Given the description of an element on the screen output the (x, y) to click on. 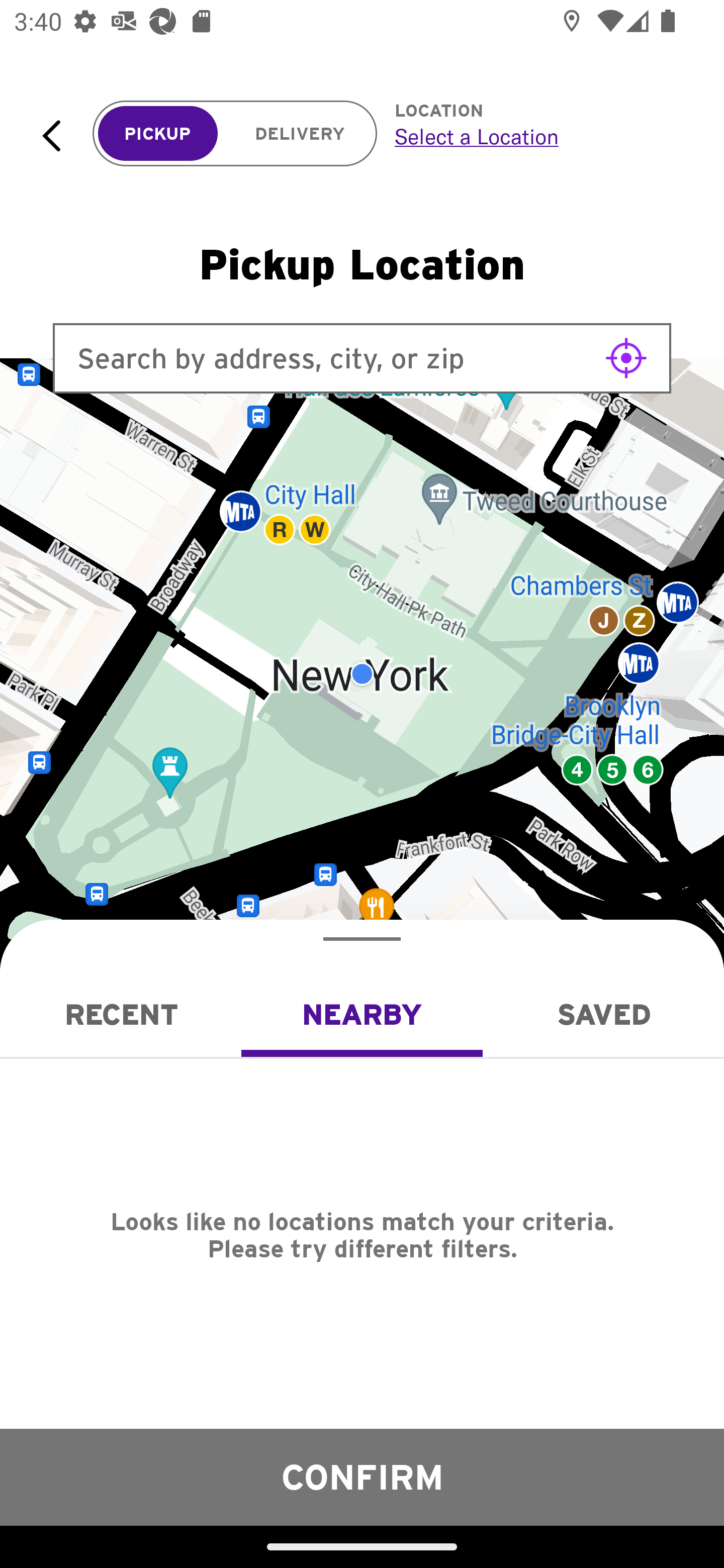
PICKUP (157, 133)
DELIVERY (299, 133)
Select a Location (536, 136)
Search by address, city, or zip (361, 358)
Google Map (362, 674)
Recent RECENT (120, 1014)
Saved SAVED (603, 1014)
CONFIRM (362, 1476)
